Given the description of an element on the screen output the (x, y) to click on. 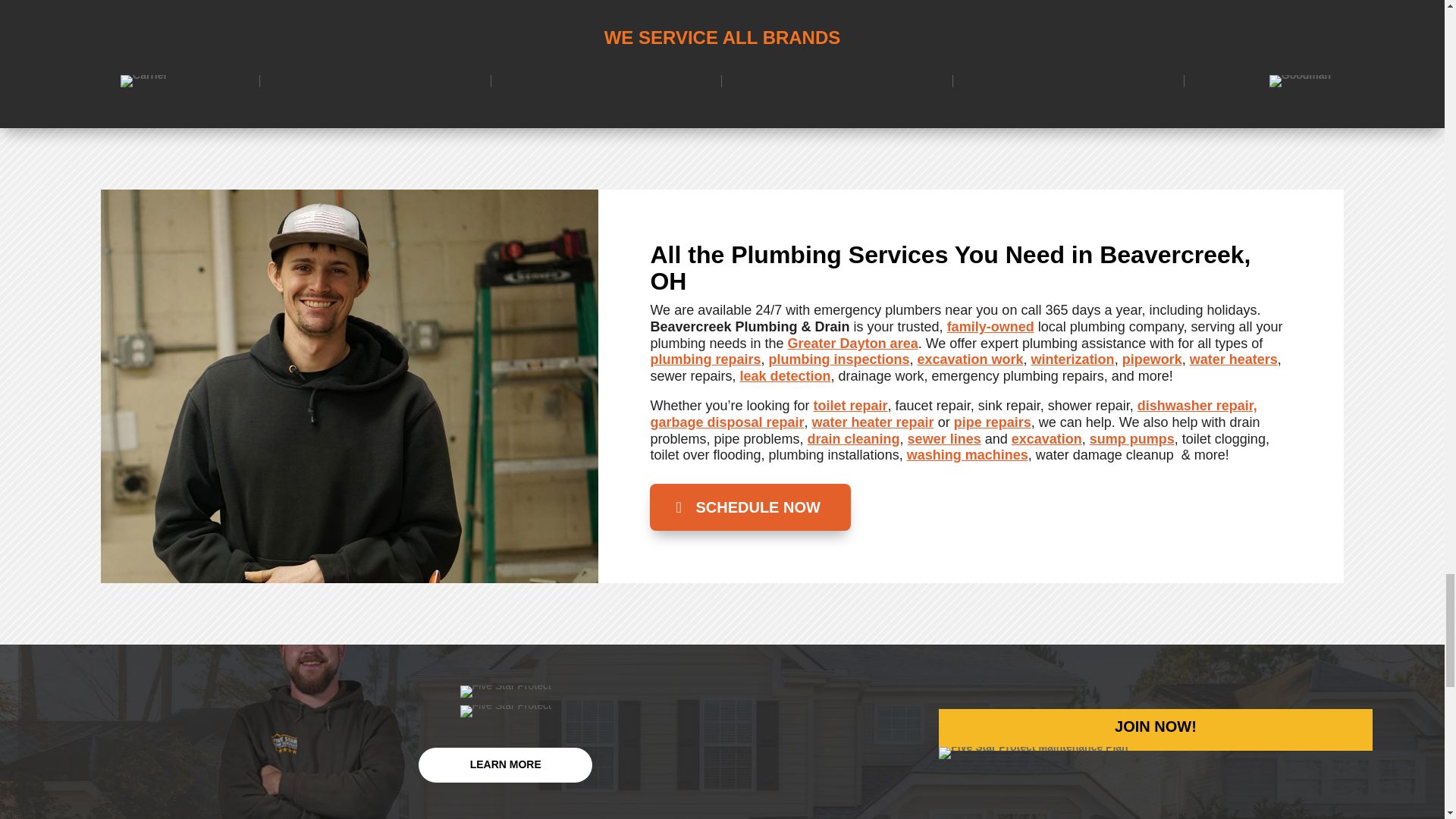
american-standard-white (1299, 80)
Five Star Protect Maintenance Plan (1032, 752)
Five Star Protect (505, 711)
Five Star Protect (505, 691)
bradford-white-water-heaters-white (143, 80)
